Given the description of an element on the screen output the (x, y) to click on. 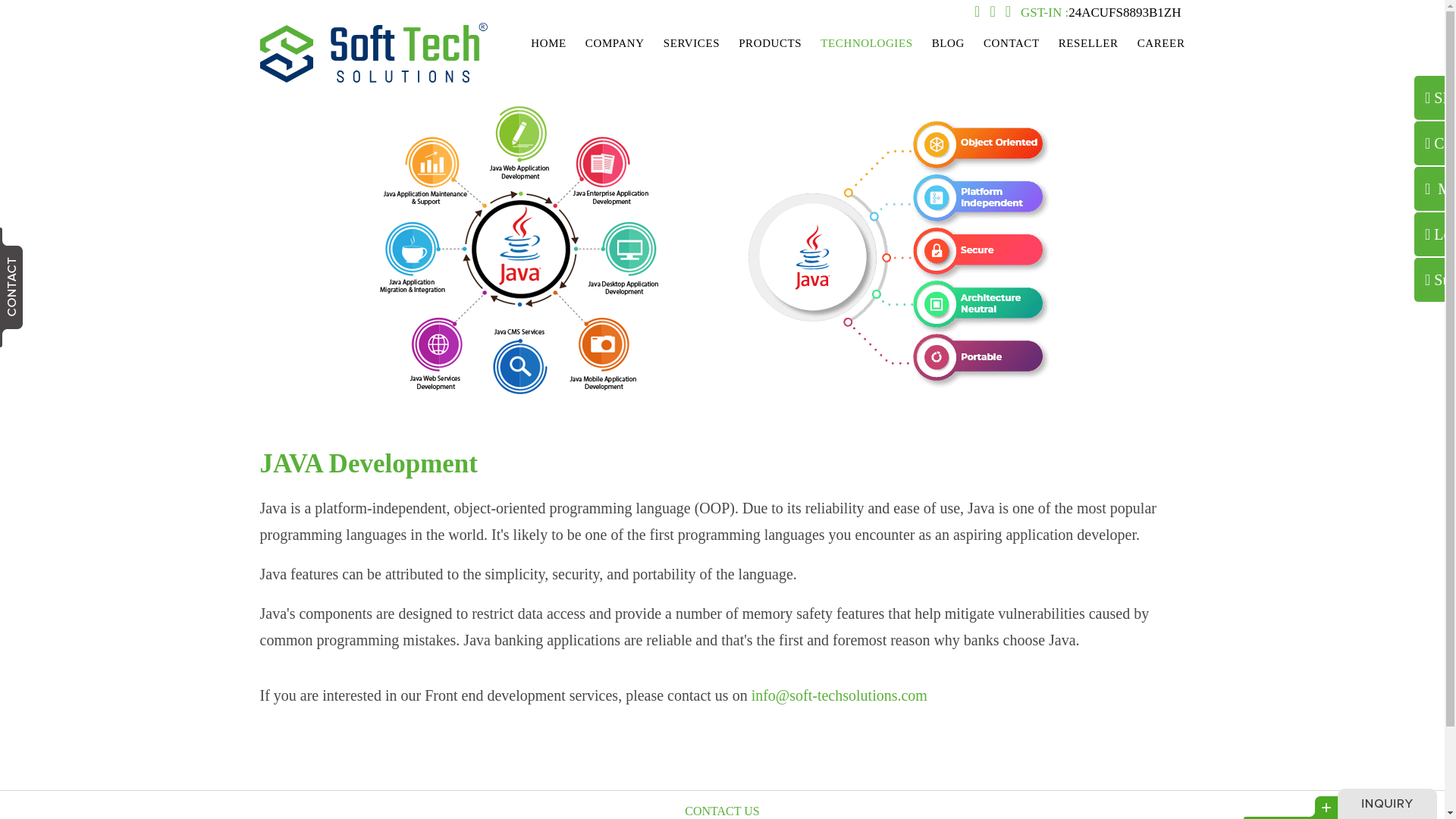
Soft-tech Solutions (372, 79)
HOME (547, 43)
SERVICES (691, 43)
PRODUCTS (769, 43)
COMPANY (614, 43)
GST-IN :24ACUFS8893B1ZH (1100, 11)
